Given the description of an element on the screen output the (x, y) to click on. 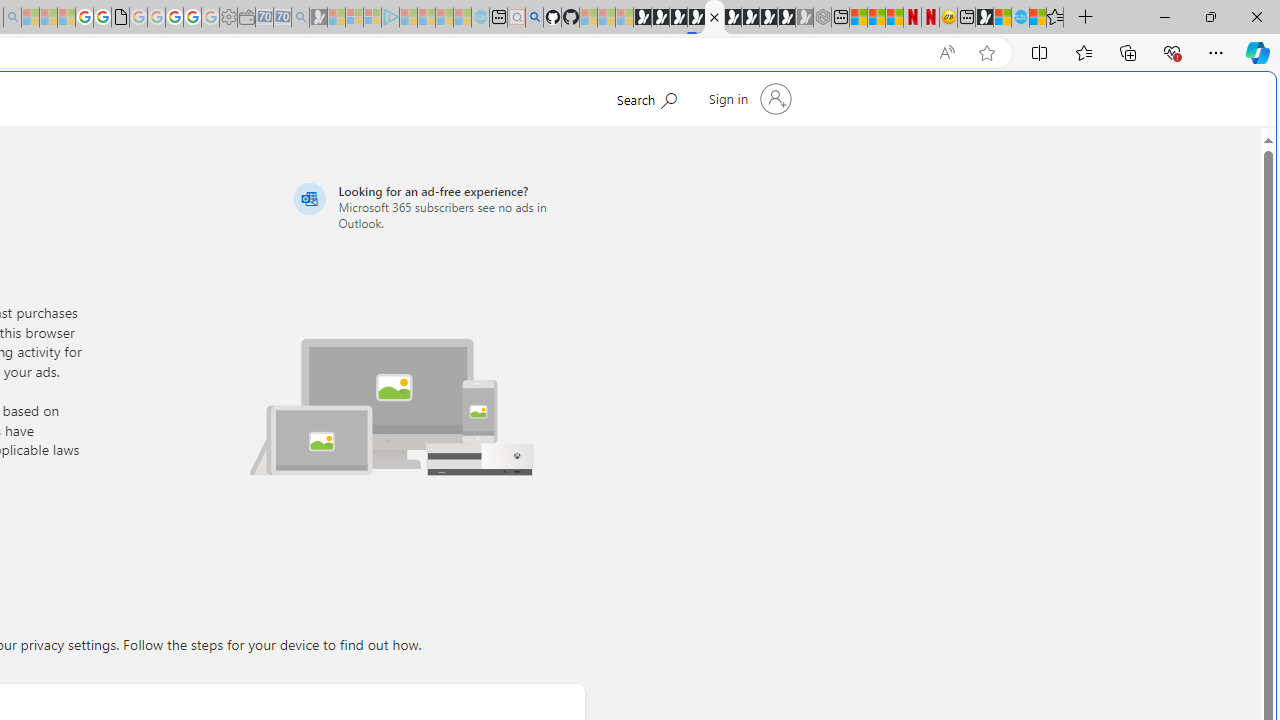
Sign in to your account (748, 98)
Play Cave FRVR in your browser | Games from Microsoft Start (678, 17)
Play Cave FRVR in your browser | Games from Microsoft Start (343, 426)
